Given the description of an element on the screen output the (x, y) to click on. 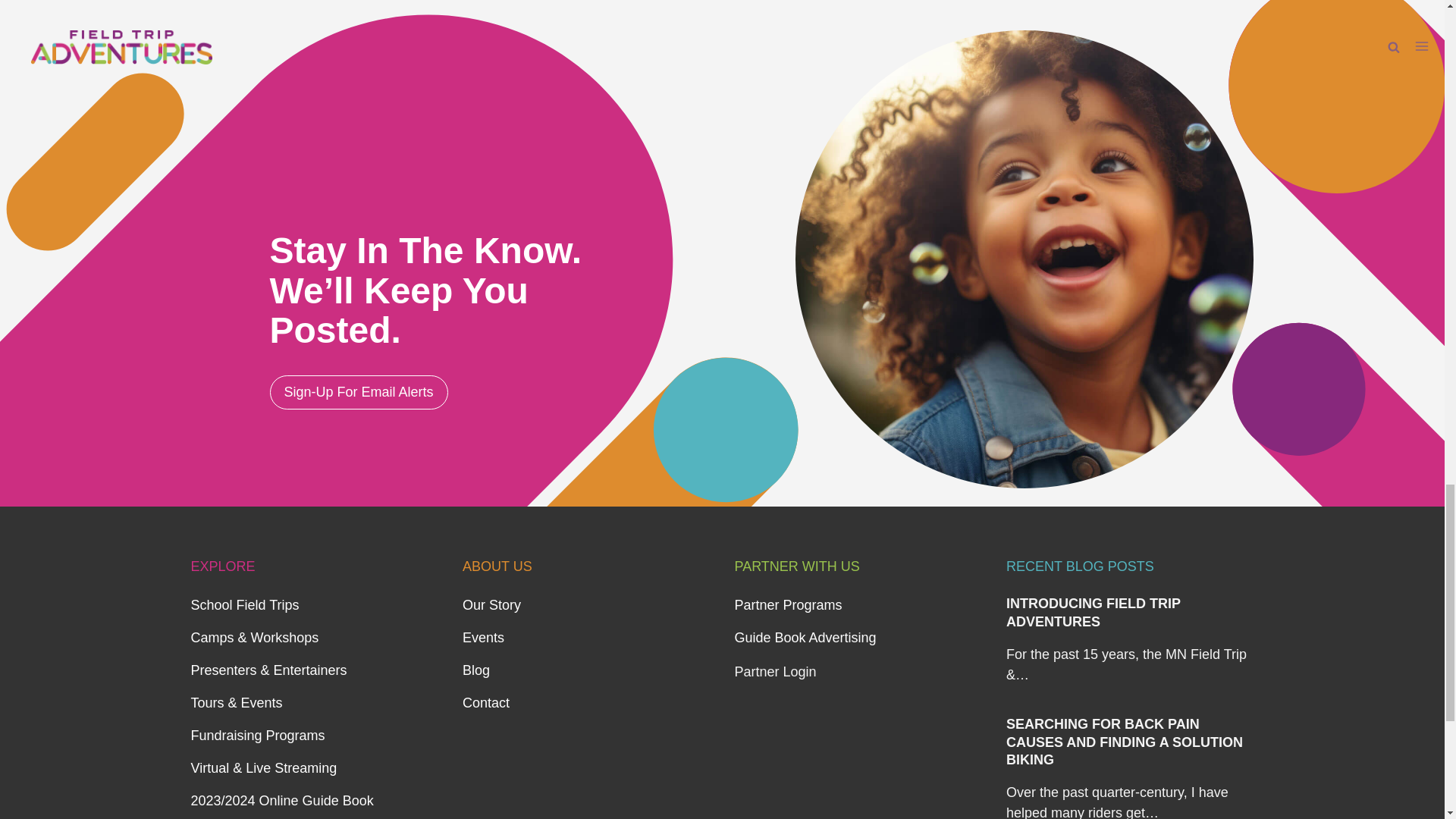
Events (483, 637)
Blog (476, 670)
Guide Book Advertising (804, 637)
Partner Login (774, 671)
SEARCHING FOR BACK PAIN CAUSES AND FINDING A SOLUTION BIKING (1124, 741)
School Field Trips (244, 604)
Our Story (492, 604)
Sign-Up For Email Alerts (358, 392)
Fundraising Programs (257, 735)
Partner Programs (787, 604)
INTRODUCING FIELD TRIP ADVENTURES (1093, 612)
Contact (486, 702)
